Given the description of an element on the screen output the (x, y) to click on. 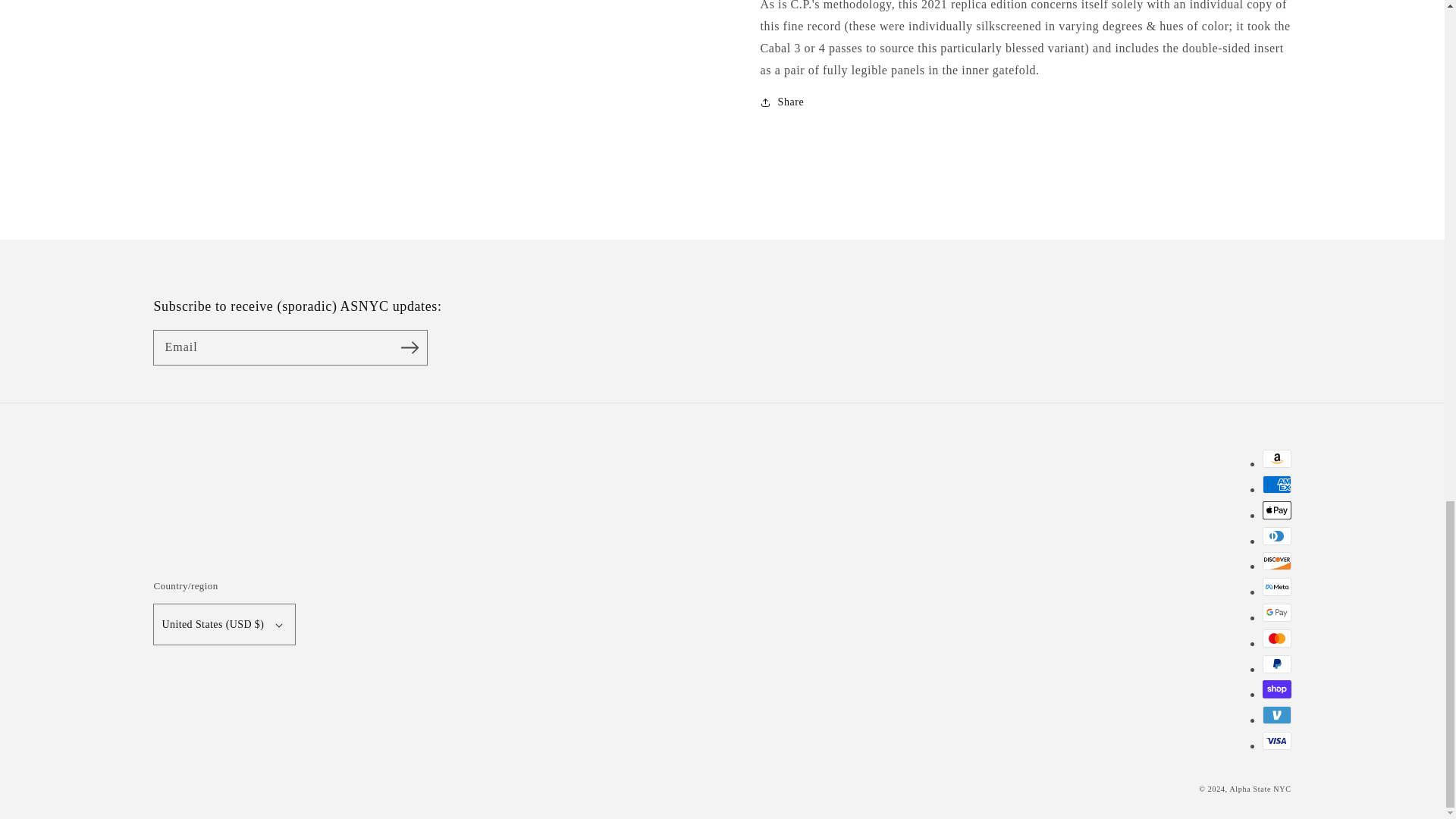
Diners Club (1276, 536)
Amazon (1276, 458)
Shop Pay (1276, 689)
Apple Pay (1276, 510)
Venmo (1276, 714)
Visa (1276, 741)
Mastercard (1276, 638)
Discover (1276, 561)
Meta Pay (1276, 587)
PayPal (1276, 664)
